Given the description of an element on the screen output the (x, y) to click on. 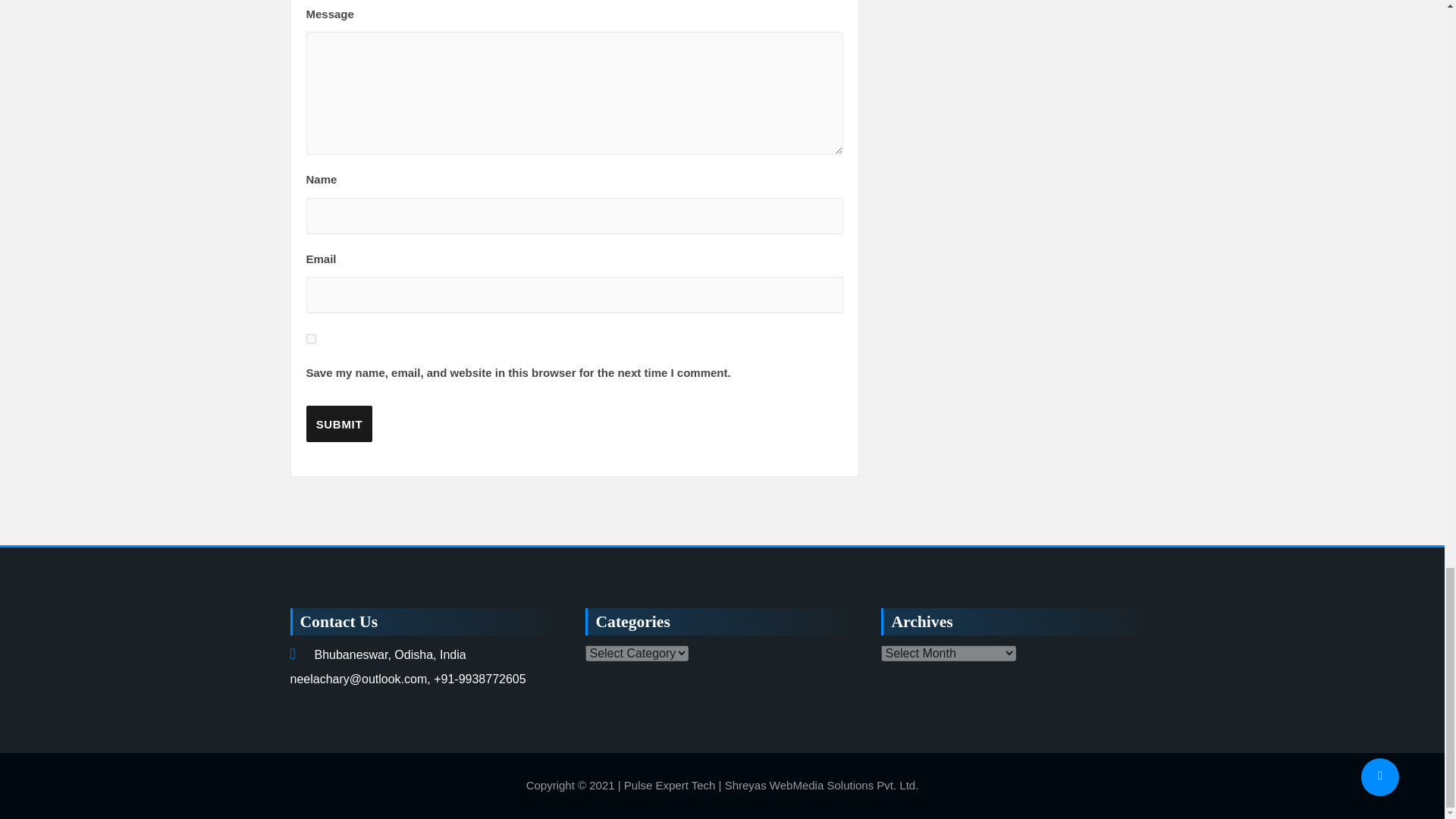
Submit (338, 423)
Submit (338, 423)
